Given the description of an element on the screen output the (x, y) to click on. 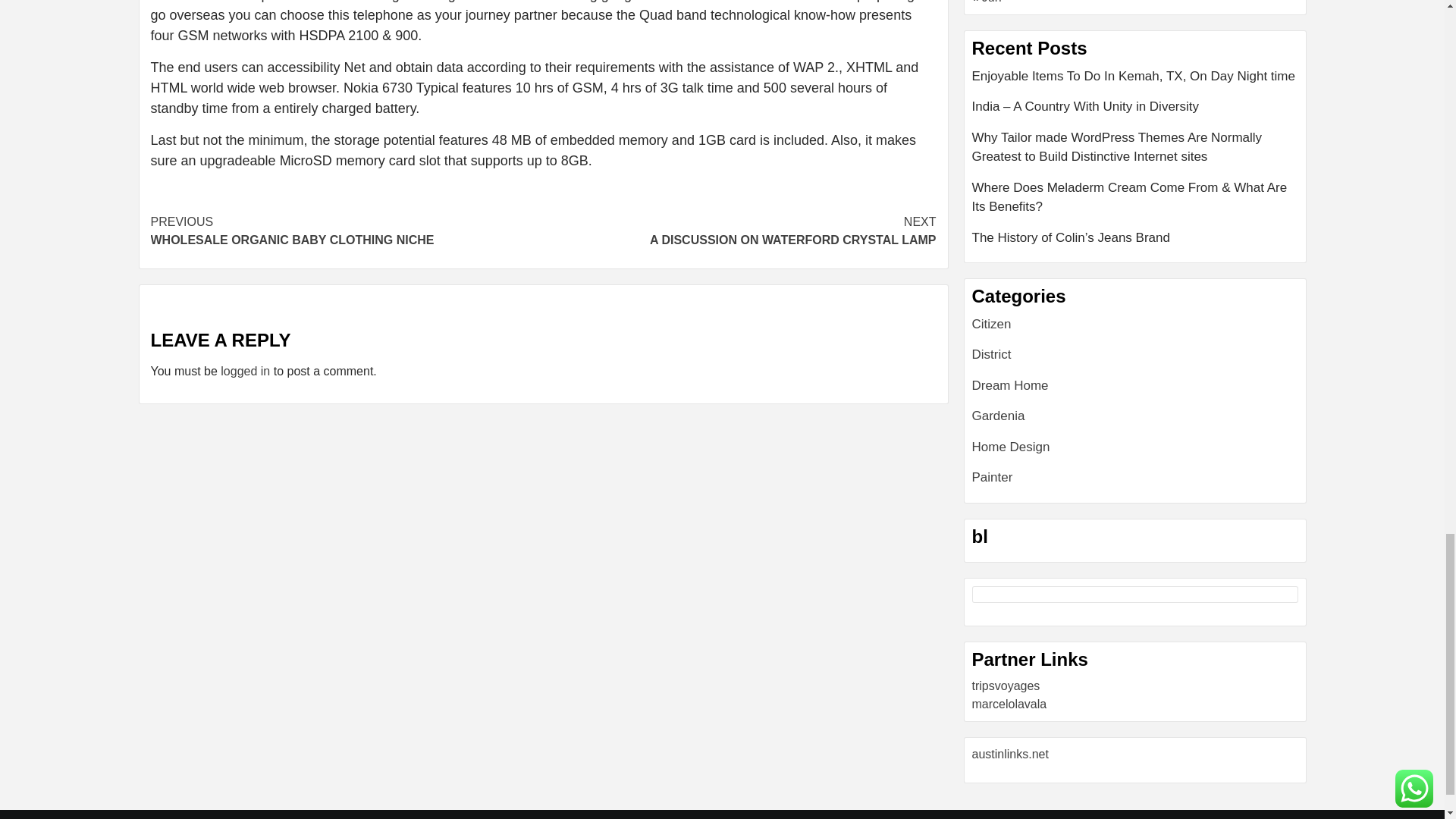
logged in (739, 230)
